Given the description of an element on the screen output the (x, y) to click on. 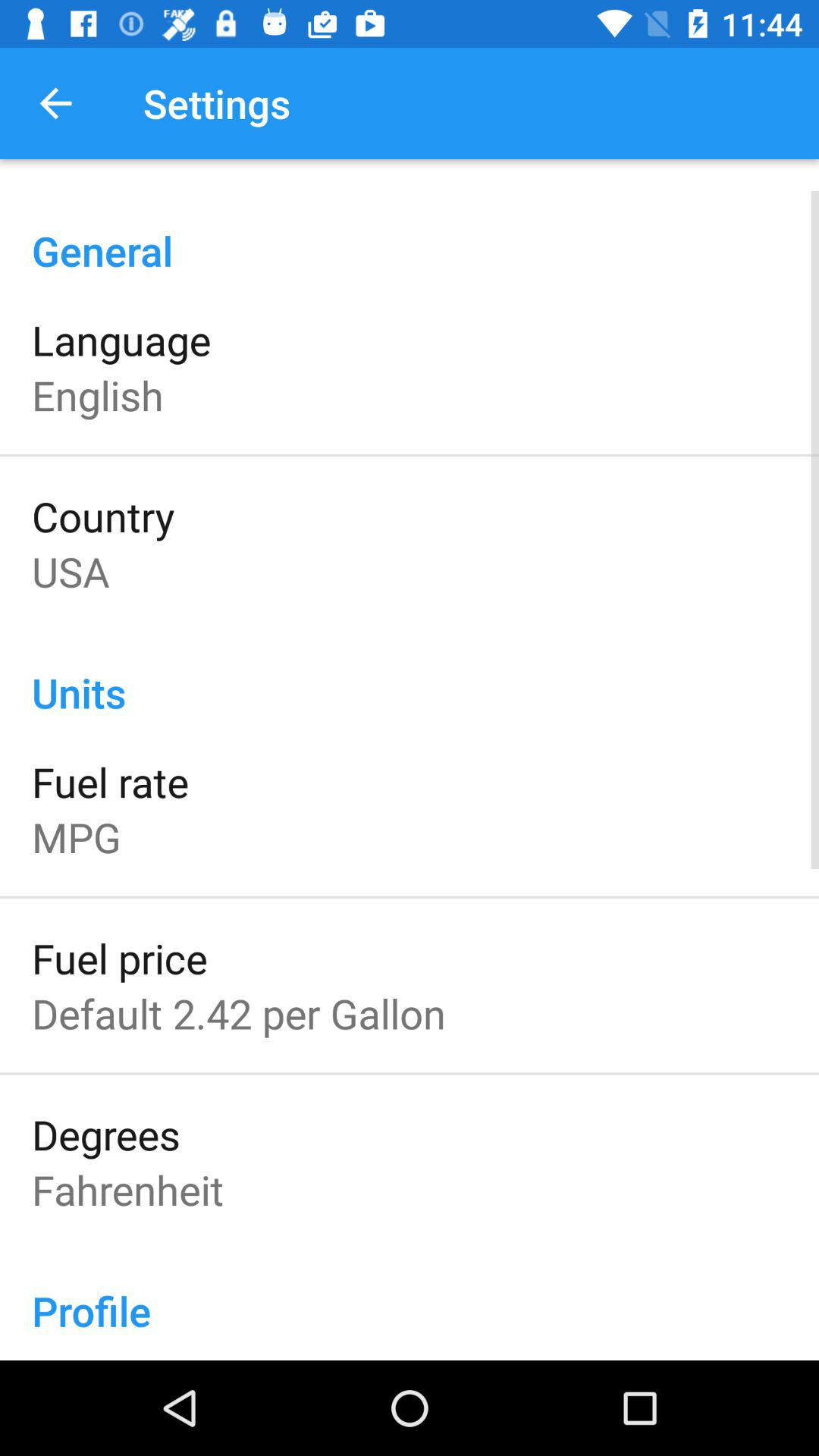
turn off icon next to the settings (55, 103)
